Given the description of an element on the screen output the (x, y) to click on. 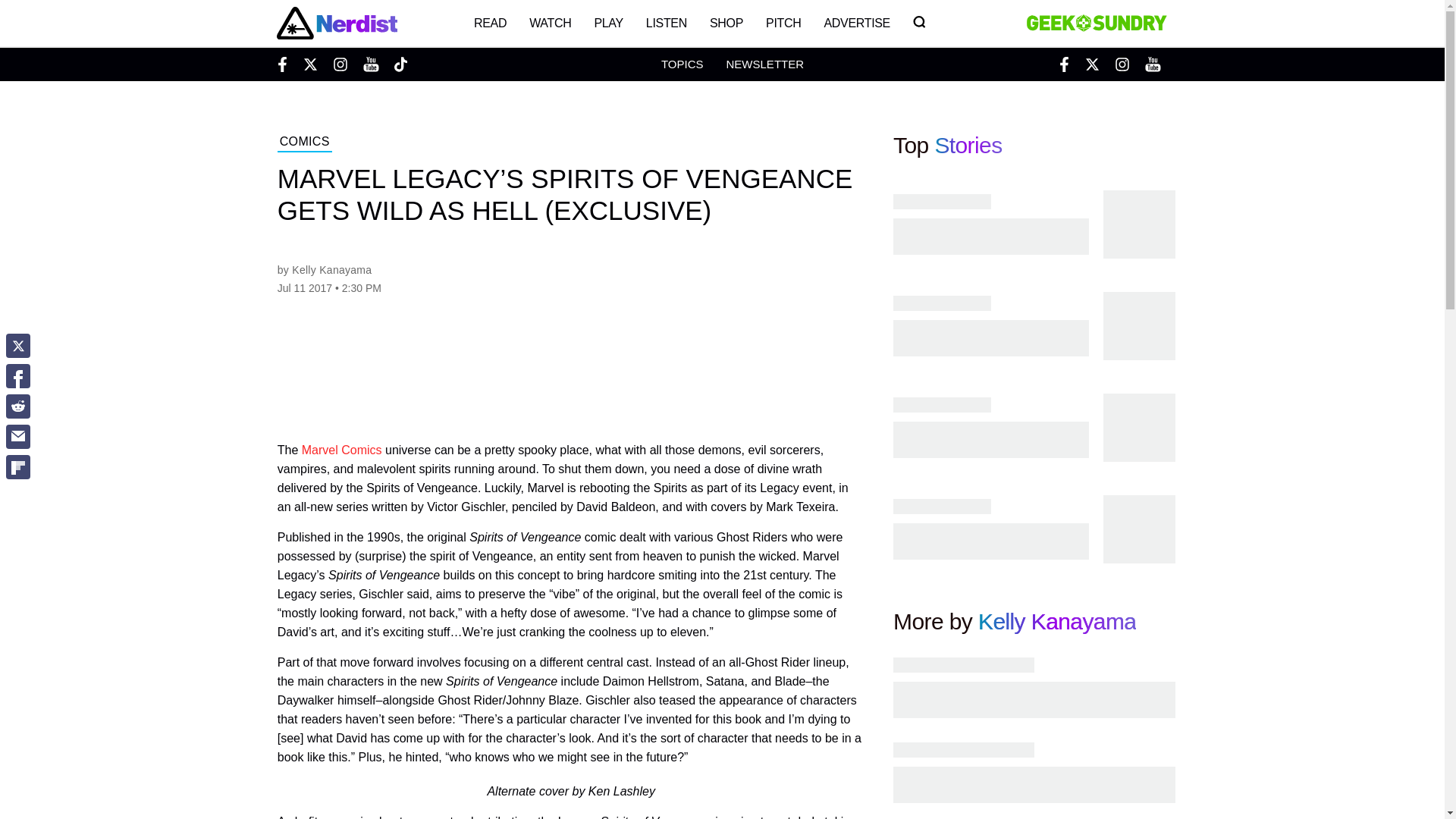
PITCH (783, 22)
Marvel Comics (341, 449)
PLAY (607, 22)
READ (490, 22)
Twitter Nerdist (309, 63)
Youtube Nerdist (370, 63)
SHOP (726, 22)
COMICS (304, 143)
Instagram Nerdist (339, 63)
Nerdist (336, 23)
Kelly Kanayama (331, 269)
Kelly Kanayama (1056, 621)
NEWSLETTER (764, 63)
PITCH (783, 22)
WATCH (550, 22)
